Given the description of an element on the screen output the (x, y) to click on. 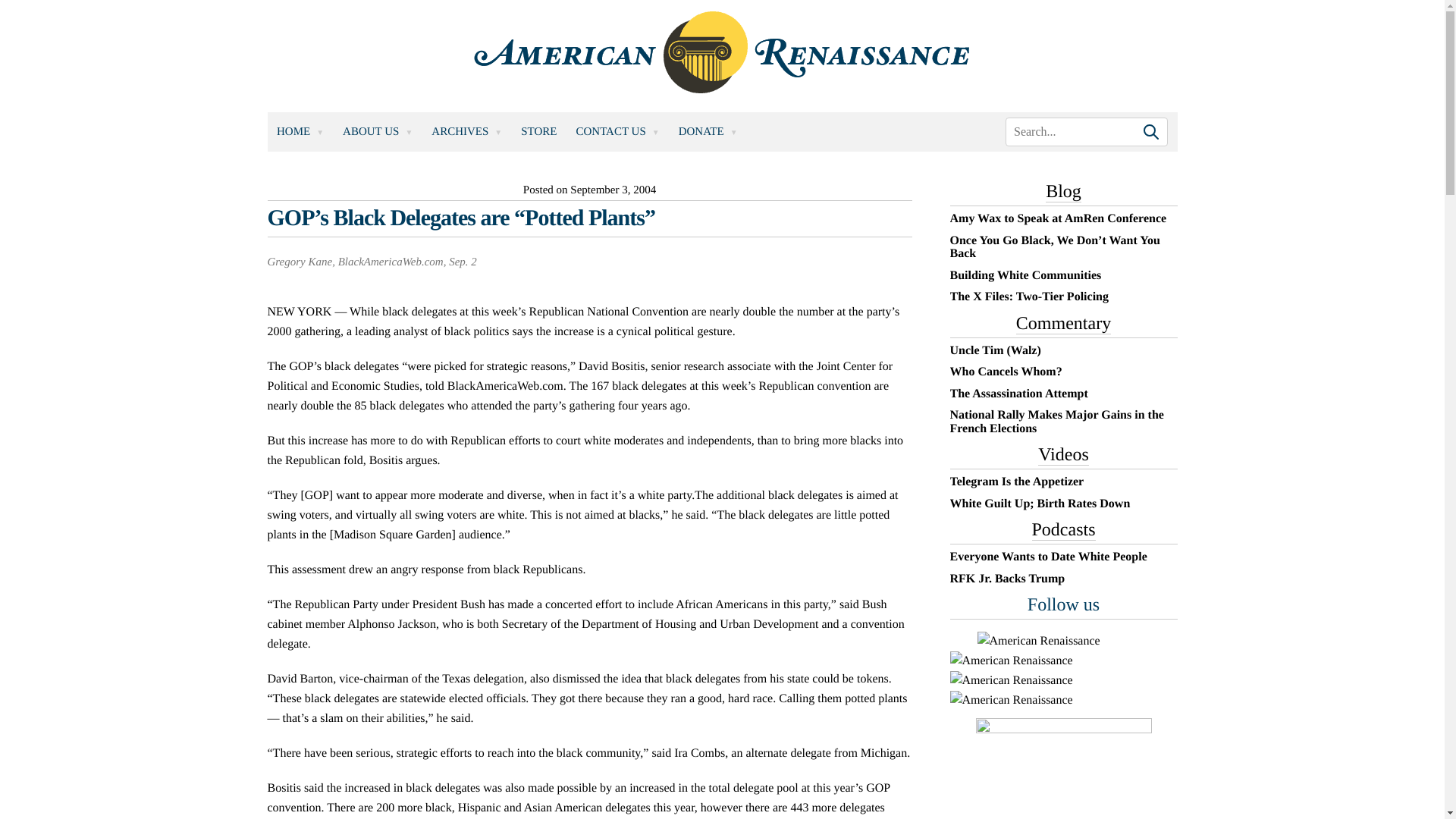
Follow us on BitChute (1037, 641)
Follow us on Telegram (1010, 700)
Subscribe to our RSS feed (1010, 680)
search (1086, 131)
ABOUT US (377, 131)
HOME (299, 131)
Follow us on Gab (1010, 660)
